Given the description of an element on the screen output the (x, y) to click on. 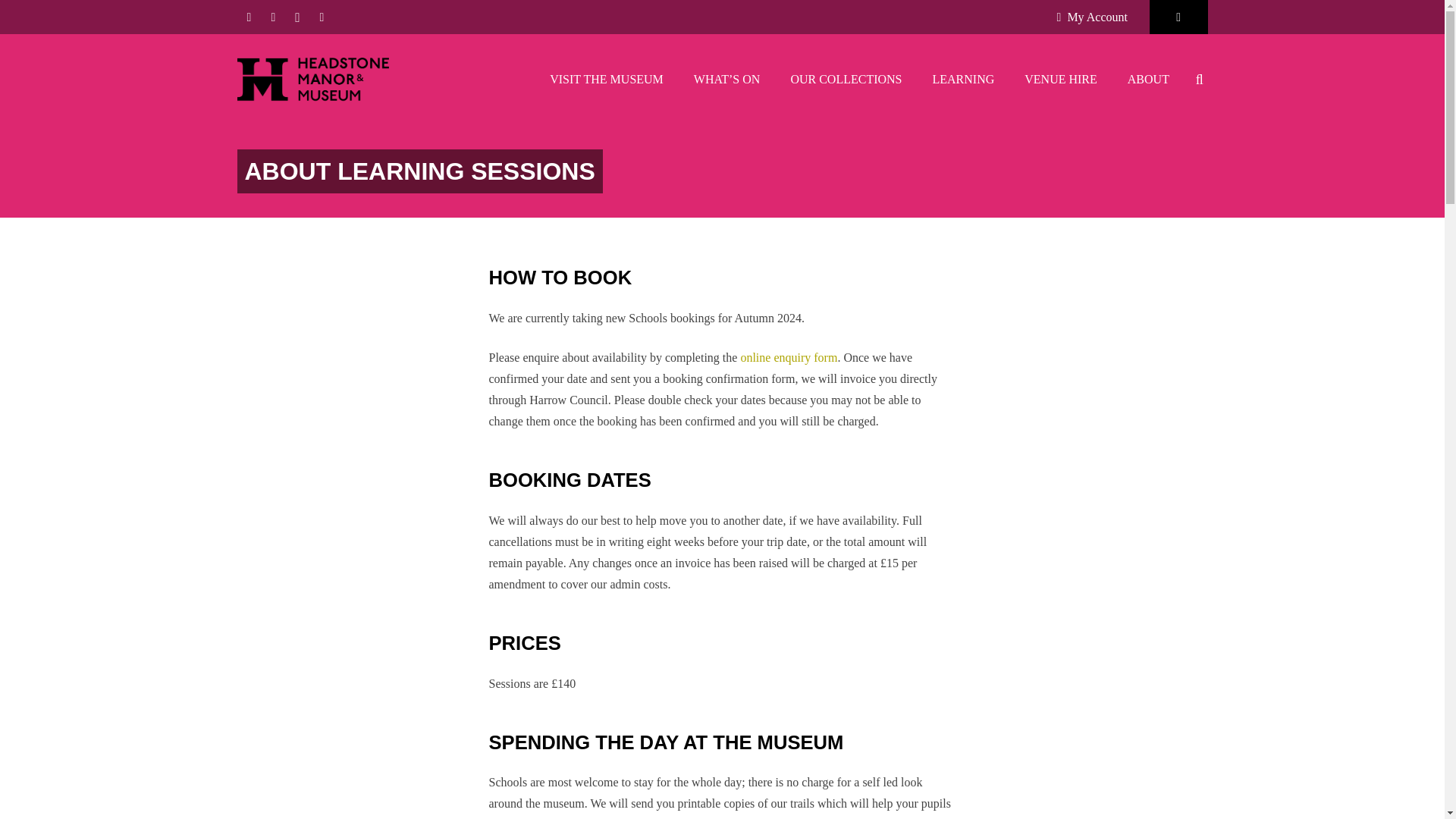
OUR COLLECTIONS (845, 79)
VISIT THE MUSEUM (606, 79)
VENUE HIRE (1060, 79)
Tripadvisor (320, 16)
LEARNING (963, 79)
Instagram (296, 16)
Facebook (247, 16)
Twitter (272, 16)
My Account (1091, 17)
